Given the description of an element on the screen output the (x, y) to click on. 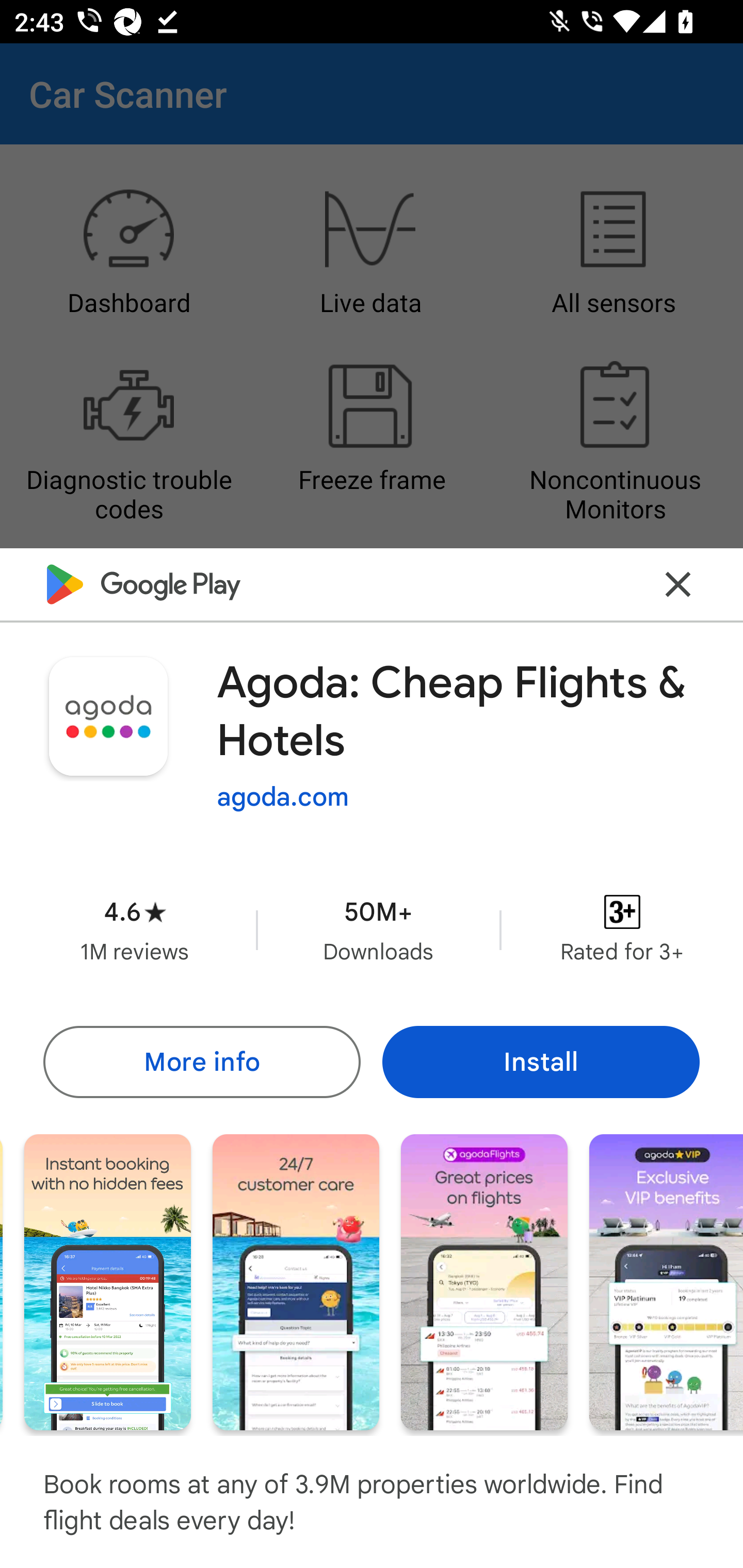
Close (677, 584)
agoda.com (282, 796)
More info (201, 1061)
Install (540, 1061)
Screenshot "4" of "8" (107, 1281)
Screenshot "5" of "8" (295, 1281)
Screenshot "6" of "8" (484, 1281)
Screenshot "7" of "8" (666, 1281)
